Given the description of an element on the screen output the (x, y) to click on. 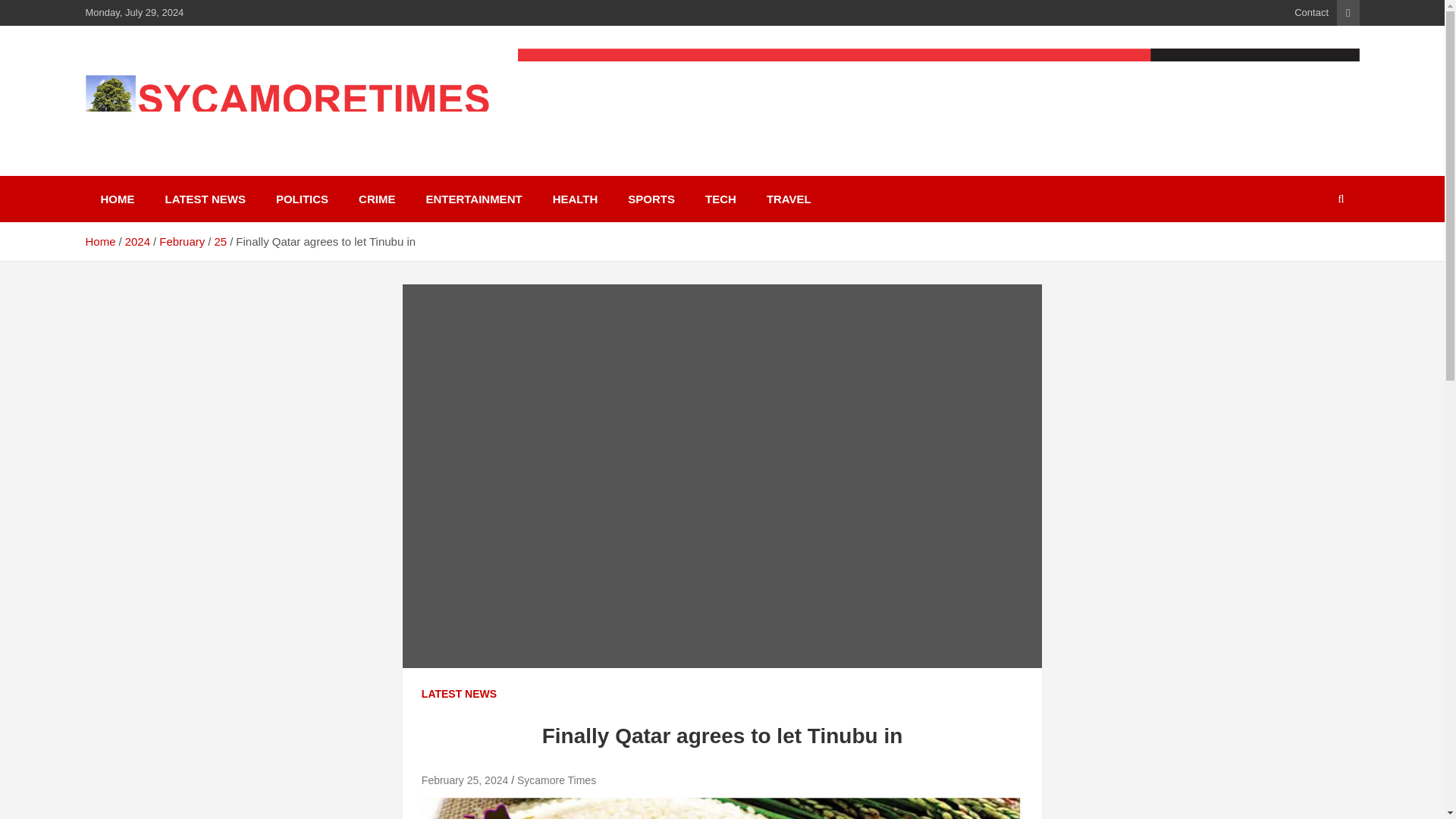
February (181, 241)
25 (220, 241)
LATEST NEWS (459, 694)
February 25, 2024 (465, 779)
CRIME (376, 198)
HOME (116, 198)
TRAVEL (789, 198)
Sycamore Times (555, 779)
SPORTS (651, 198)
POLITICS (301, 198)
Sycamoretimes (196, 145)
2024 (137, 241)
ENTERTAINMENT (473, 198)
Finally Qatar agrees to let Tinubu in (465, 779)
TECH (720, 198)
